Given the description of an element on the screen output the (x, y) to click on. 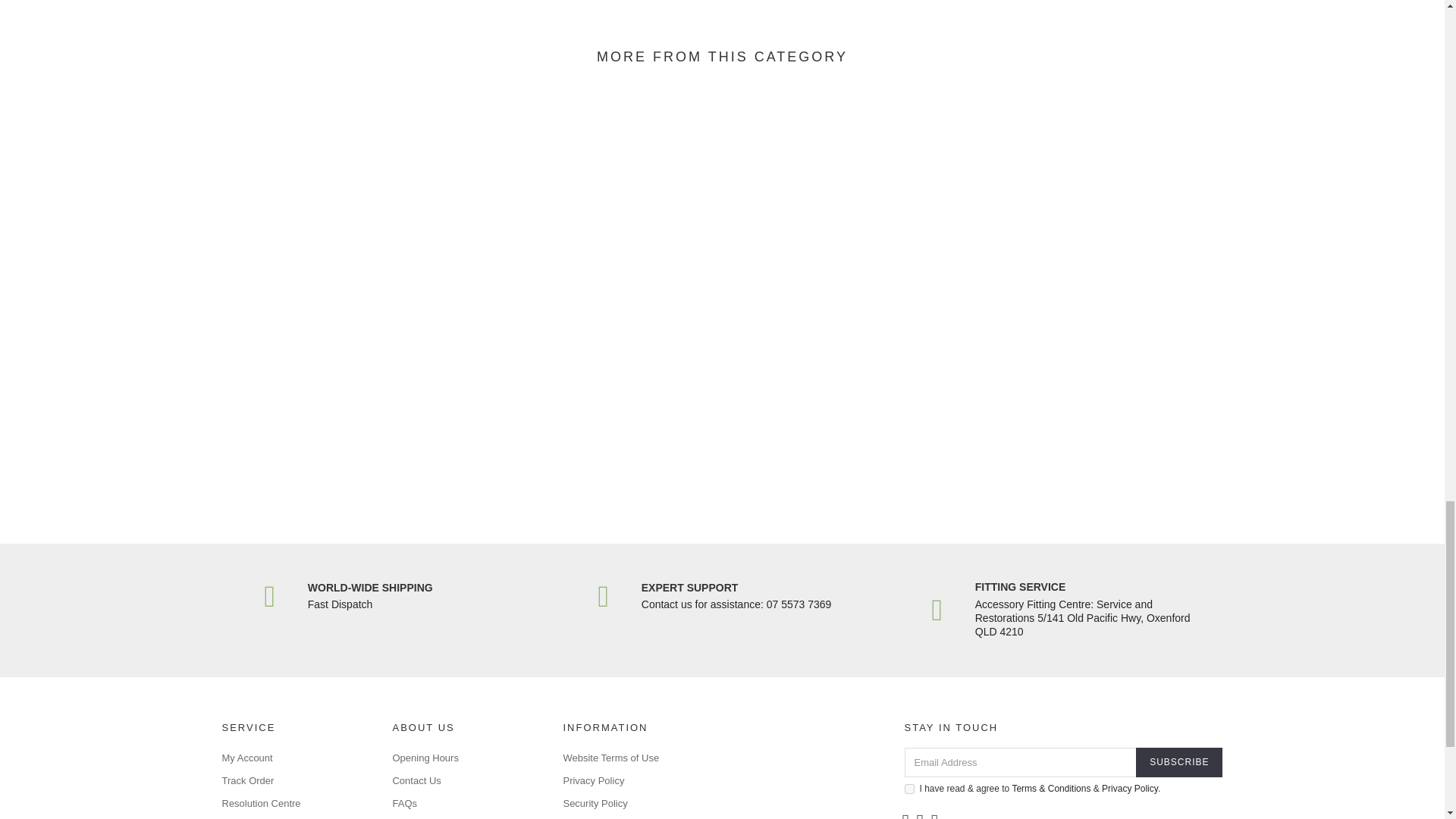
Subscribe (1179, 762)
y (909, 788)
